Given the description of an element on the screen output the (x, y) to click on. 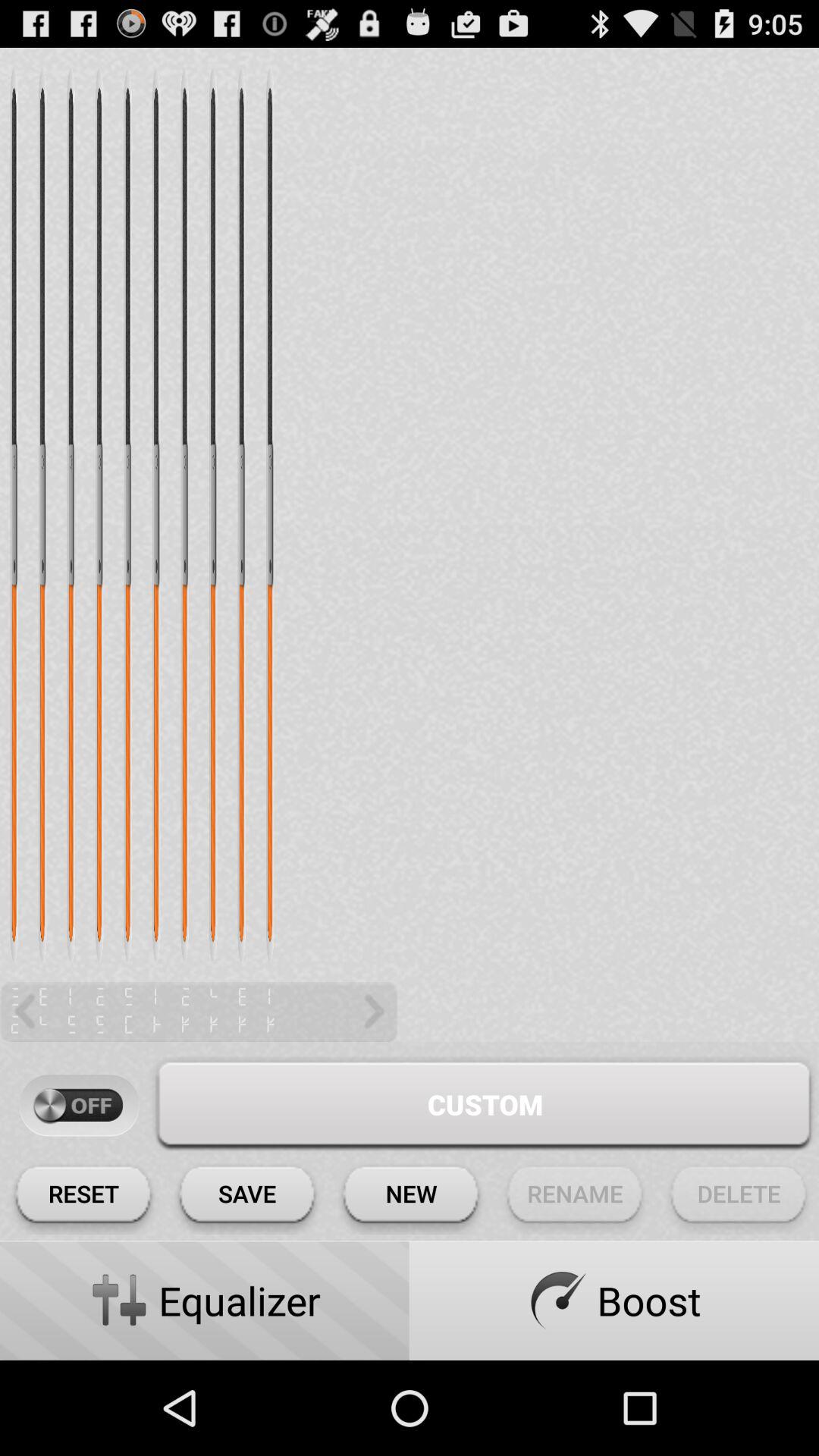
turn off (79, 1105)
